Given the description of an element on the screen output the (x, y) to click on. 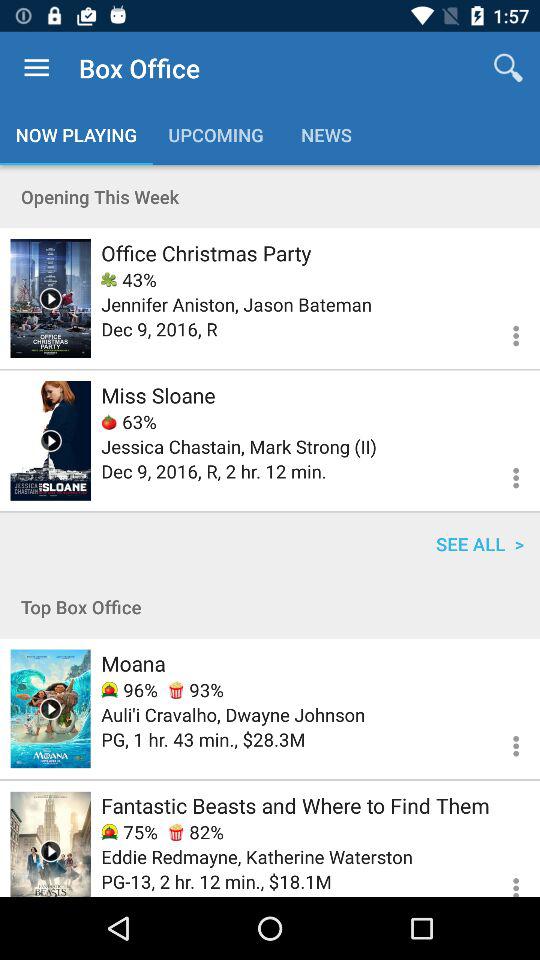
flip to the moana (133, 663)
